Given the description of an element on the screen output the (x, y) to click on. 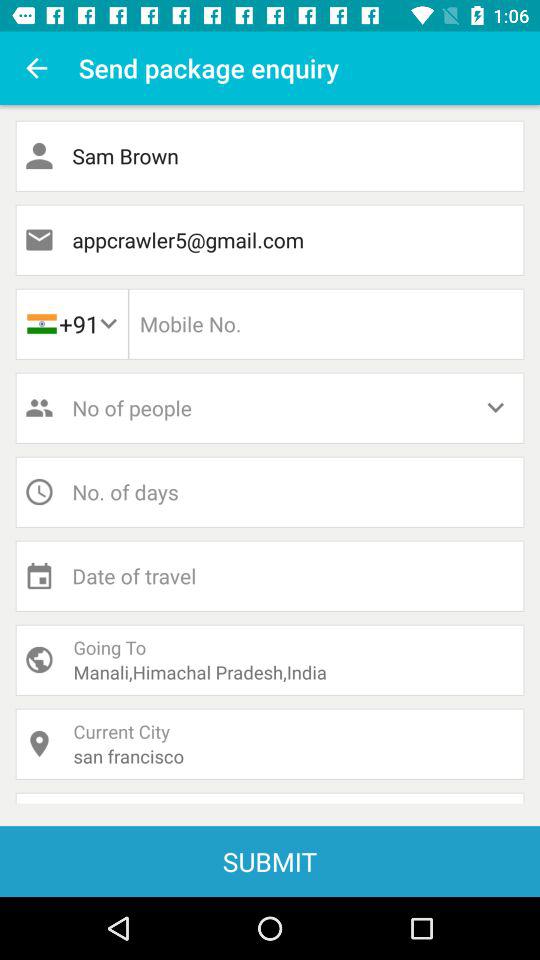
choose item below the sam brown (269, 239)
